Given the description of an element on the screen output the (x, y) to click on. 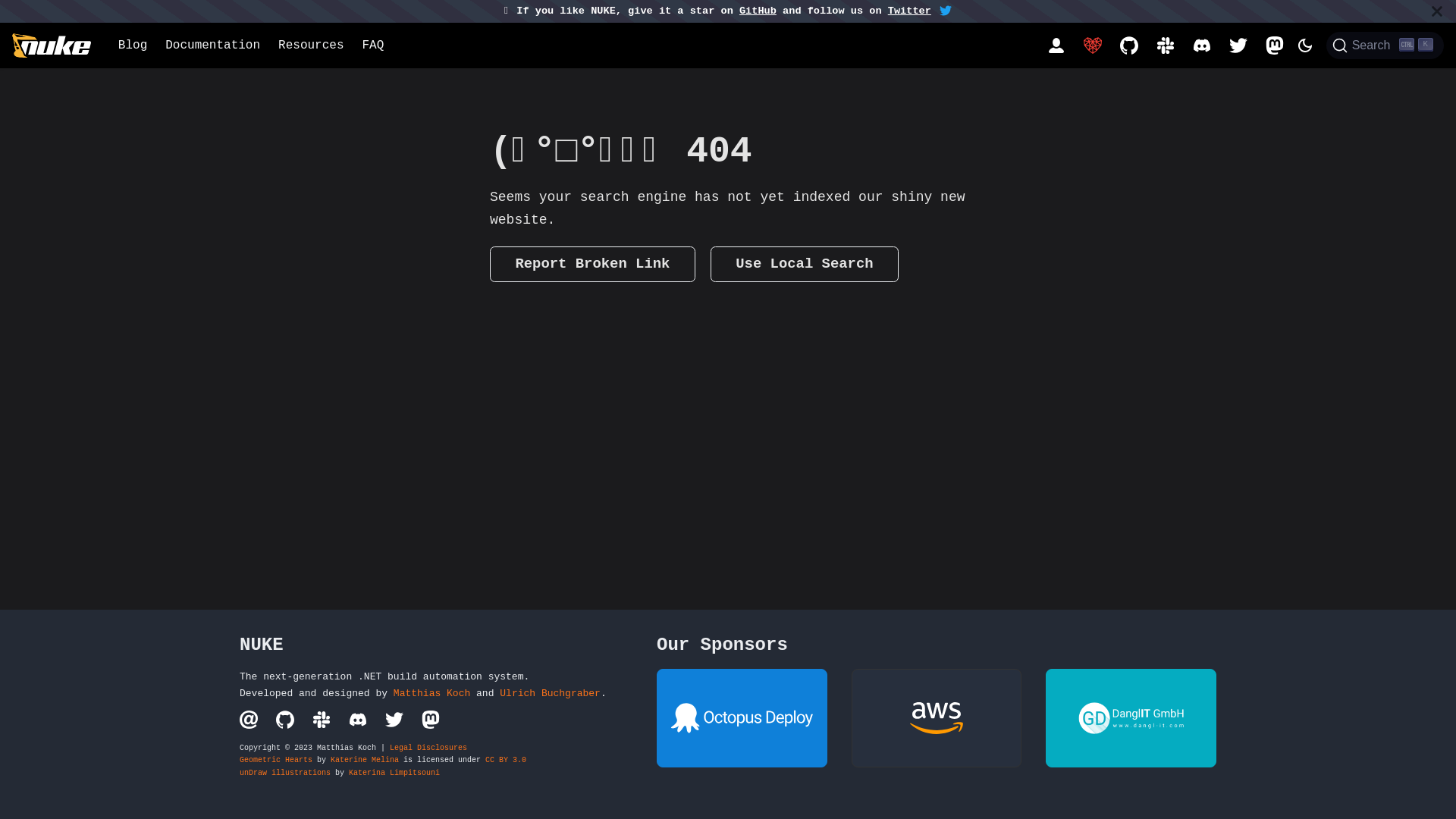
Matthias Koch Element type: text (431, 693)
Switch between dark and light mode (currently dark mode) Element type: hover (1304, 45)
GitHub Element type: text (757, 10)
Use Local Search Element type: text (804, 264)
CC BY 3.0 Element type: text (505, 760)
Resources Element type: text (310, 45)
Katerina Limpitsouni Element type: text (393, 772)
Ulrich Buchgraber Element type: text (549, 693)
Report Broken Link Element type: text (592, 264)
FAQ Element type: text (373, 45)
Blog Element type: text (132, 45)
Documentation Element type: text (212, 45)
Geometric Hearts Element type: text (275, 760)
Twitter Element type: text (909, 10)
unDraw illustrations Element type: text (284, 772)
Search
K Element type: text (1384, 45)
Katerine Melina Element type: text (364, 760)
Legal Disclosures Element type: text (428, 747)
